Given the description of an element on the screen output the (x, y) to click on. 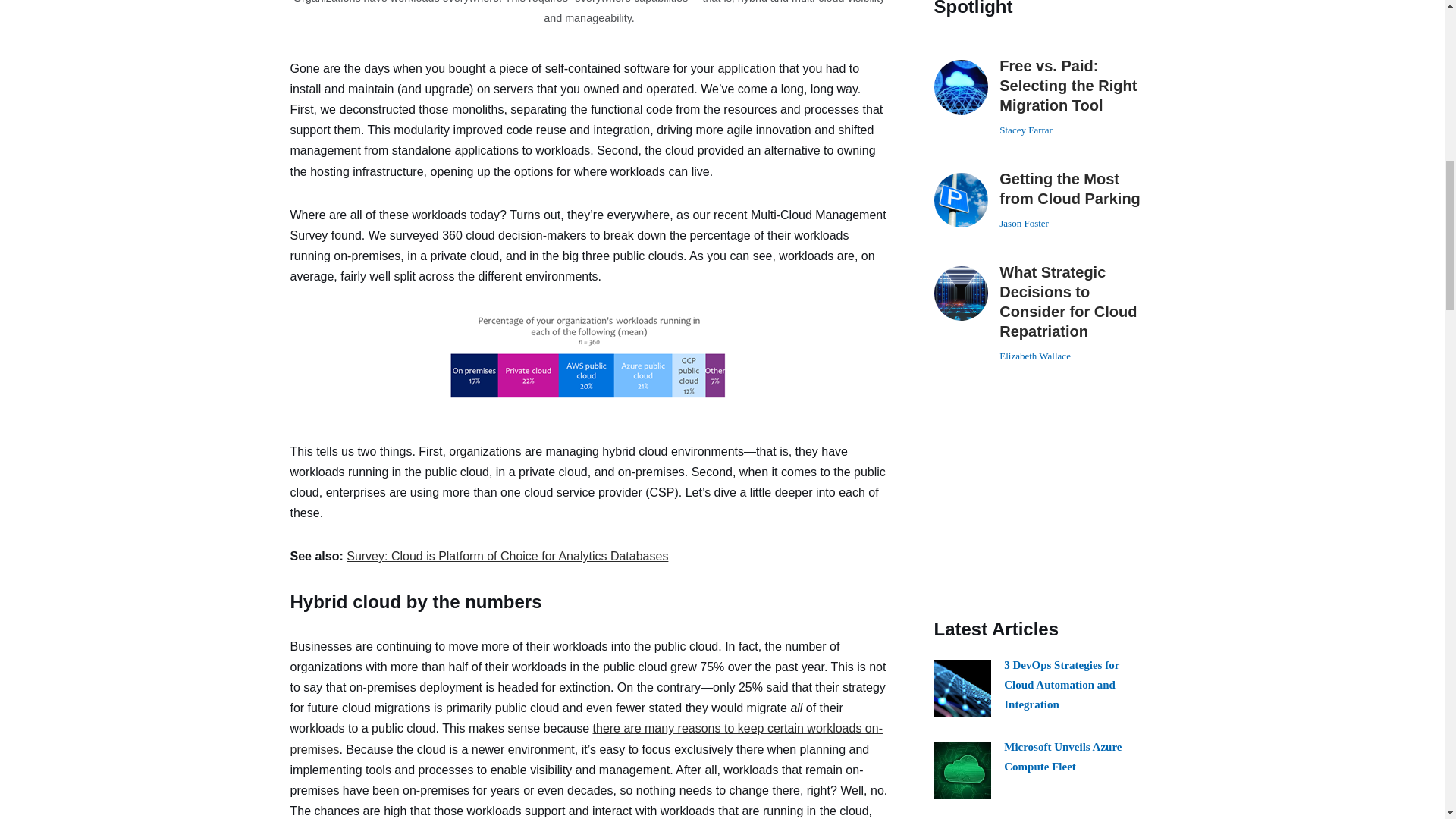
Survey: Cloud is Platform of Choice for Analytics Databases (507, 555)
there are many reasons to keep certain workloads on-premises (585, 738)
